Given the description of an element on the screen output the (x, y) to click on. 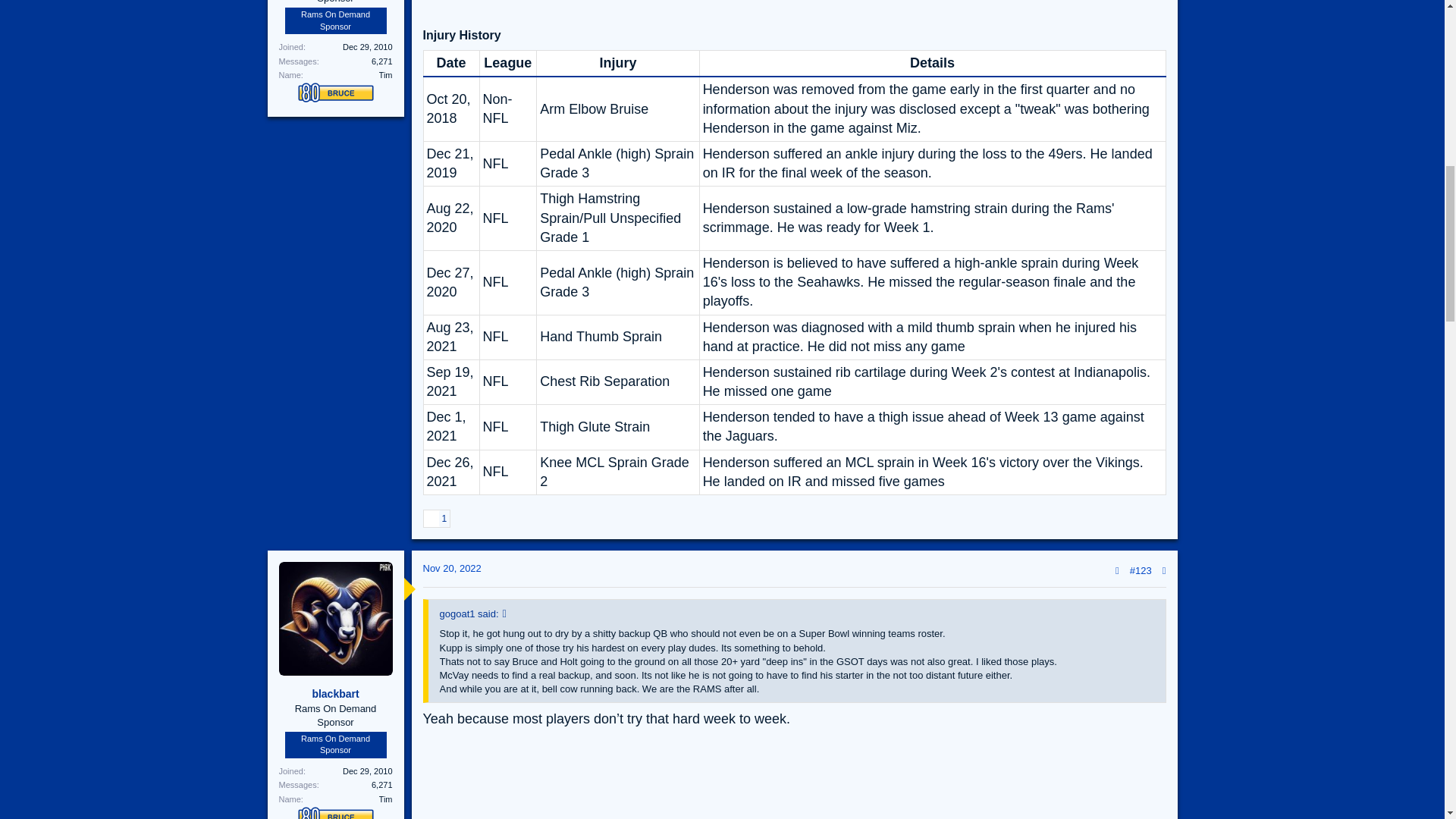
Like (436, 518)
Mood: Bruce (334, 92)
Like (430, 518)
Mood: Bruce (334, 812)
Nov 20, 2022 at 8:15 PM (452, 568)
